Given the description of an element on the screen output the (x, y) to click on. 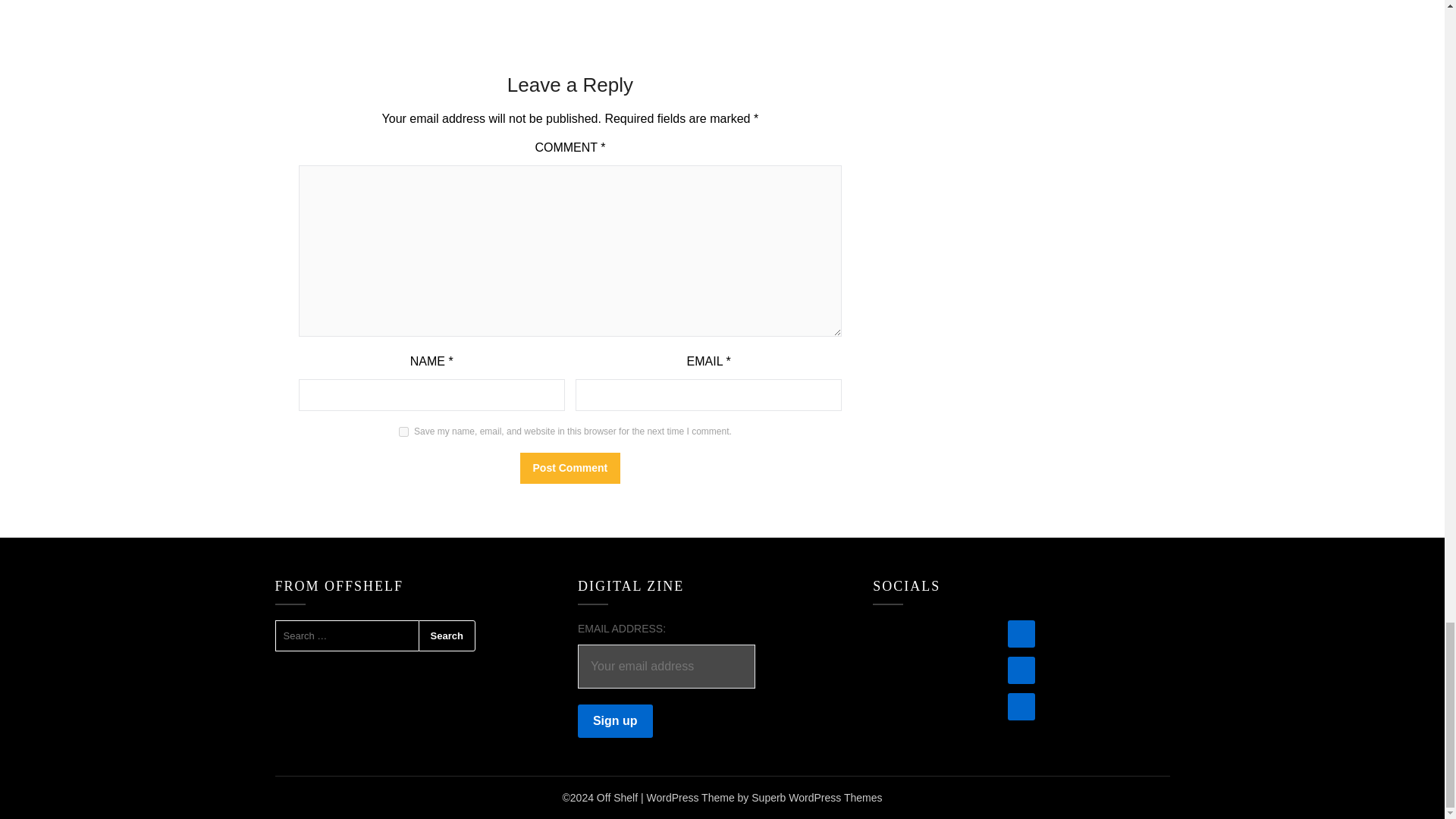
Post Comment (570, 468)
Sign up (615, 720)
Post Comment (570, 468)
yes (403, 431)
Search (447, 635)
Sign up (615, 720)
Search (447, 635)
Search (447, 635)
